Given the description of an element on the screen output the (x, y) to click on. 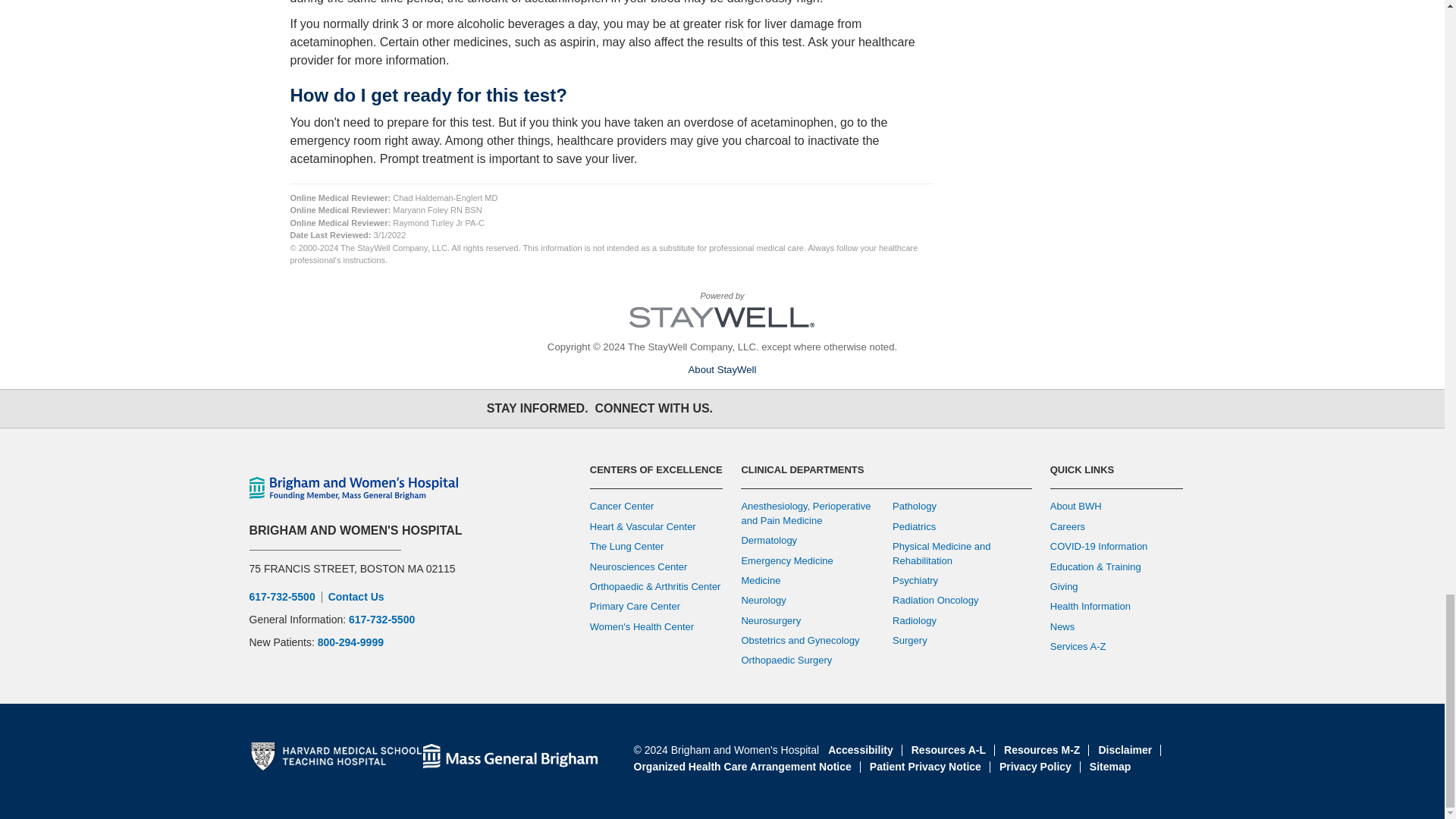
Facebook (738, 408)
Newsroom (905, 408)
Instagram (804, 408)
LinkedIn (871, 408)
YouTube (838, 408)
